Given the description of an element on the screen output the (x, y) to click on. 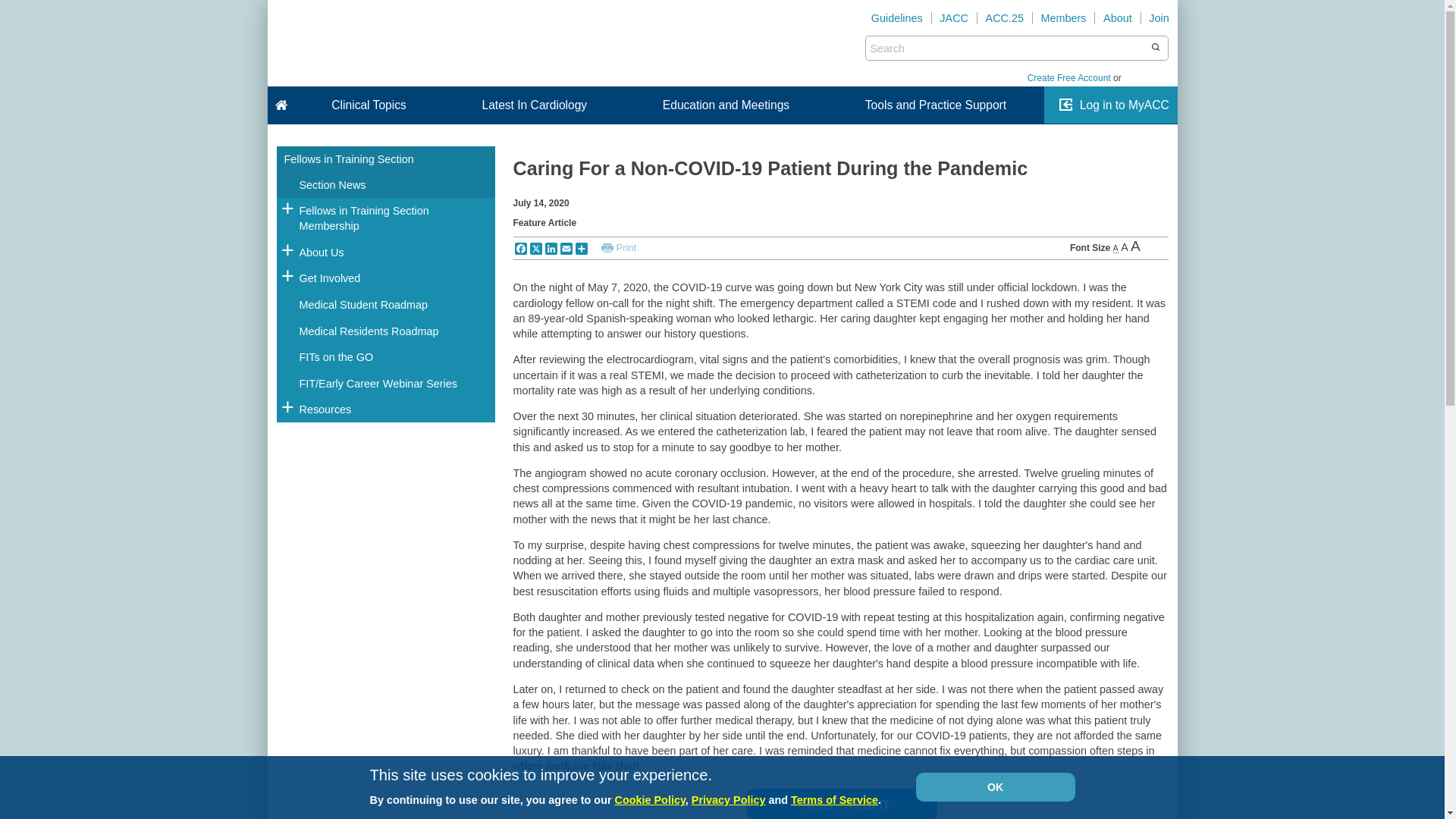
Join (1158, 18)
Log in to MyACC (1124, 104)
JACC.org (953, 18)
Create Free Account (1068, 77)
Clinical Topics (368, 104)
Guidelines (897, 18)
JACC (953, 18)
ACC.25 (1004, 18)
About (1117, 18)
Latest In Cardiology (533, 104)
Insert a query. Press enter to send (1007, 47)
Members (1063, 18)
ACC Annual Scientific Session (1004, 18)
